Given the description of an element on the screen output the (x, y) to click on. 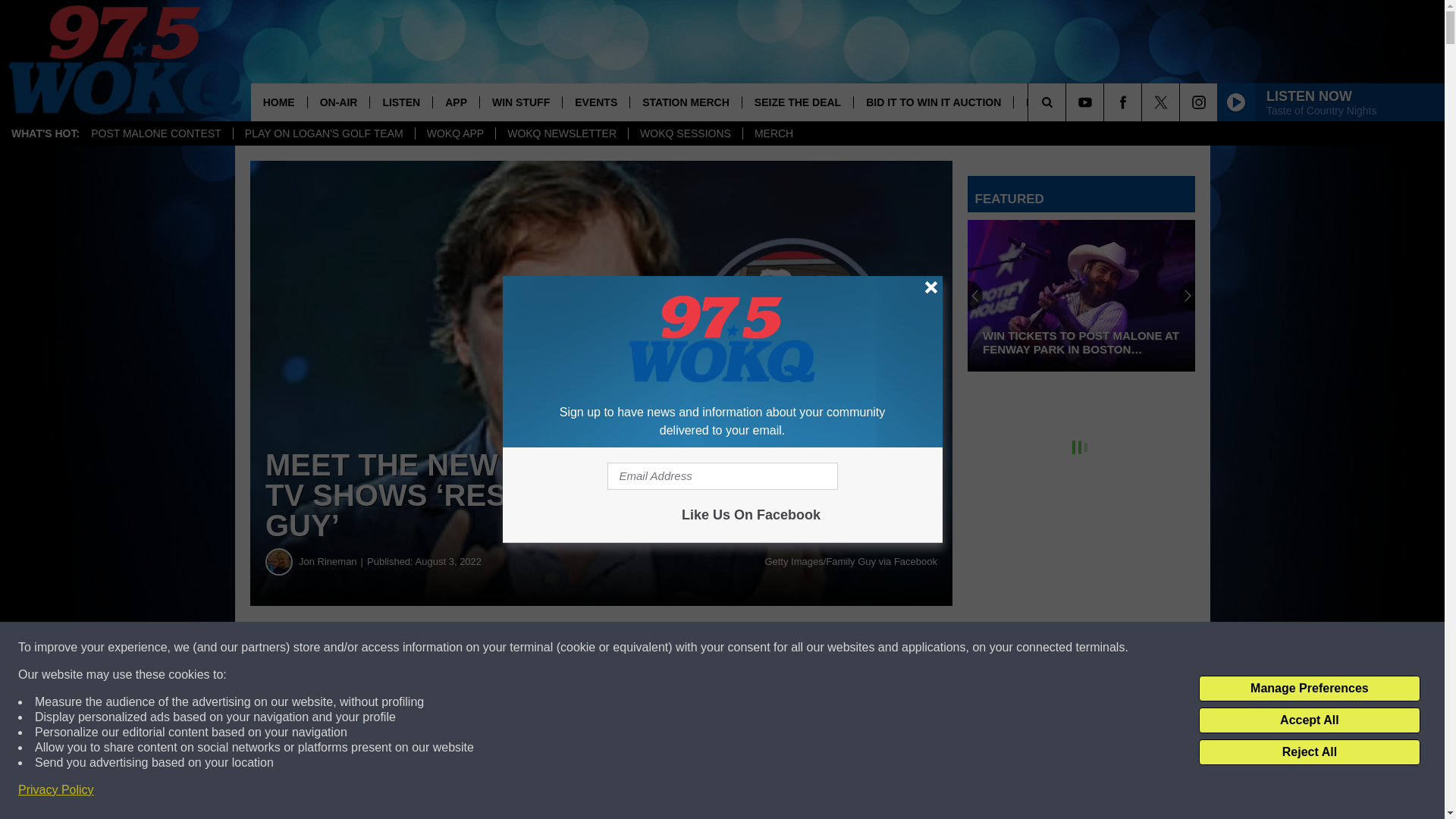
POST MALONE CONTEST (156, 133)
Email Address (722, 475)
Manage Preferences (1309, 688)
MERCH (773, 133)
Privacy Policy (55, 789)
Share on Twitter (741, 647)
LISTEN (400, 102)
WIN STUFF (520, 102)
PLAY ON LOGAN'S GOLF TEAM (323, 133)
ON-AIR (338, 102)
WOKQ APP (454, 133)
Reject All (1309, 751)
Accept All (1309, 720)
Share on Facebook (460, 647)
WOKQ NEWSLETTER (561, 133)
